Given the description of an element on the screen output the (x, y) to click on. 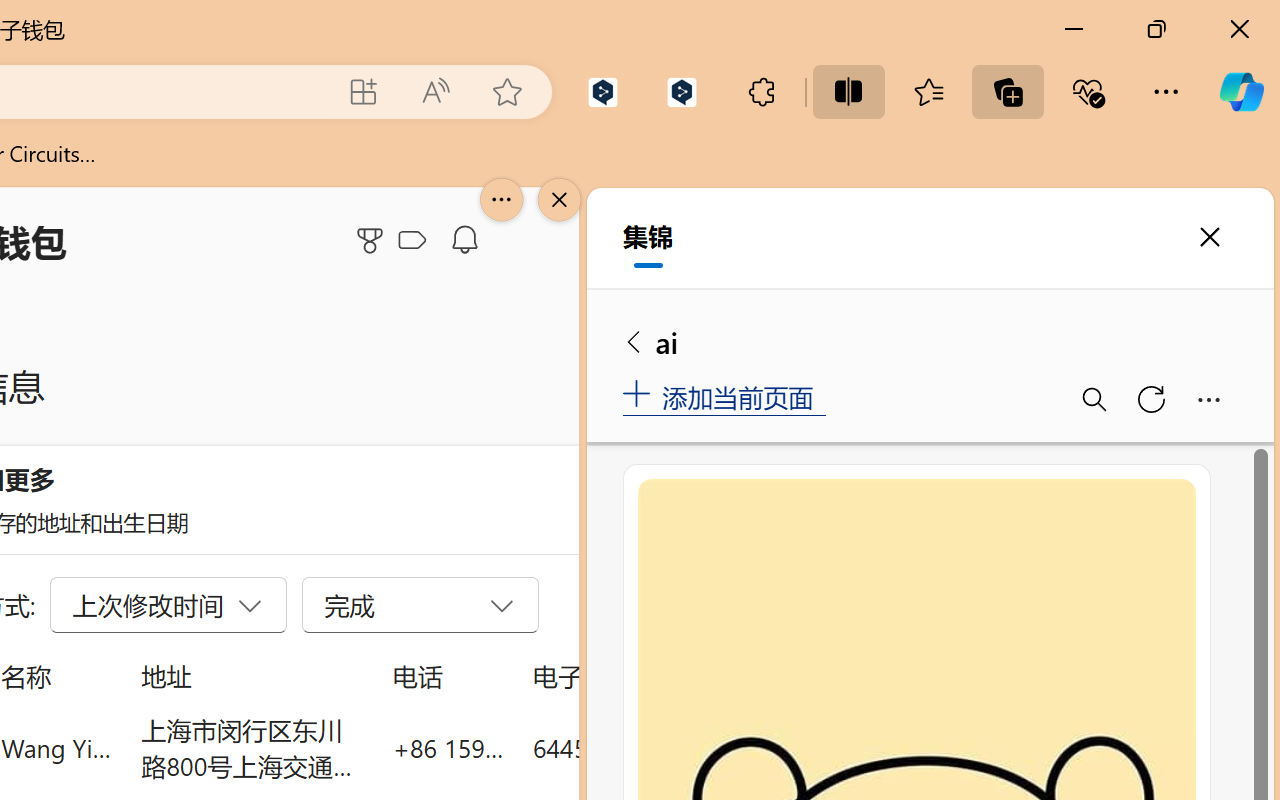
Class: ___1lmltc5 f1agt3bx f12qytpq (411, 241)
